Given the description of an element on the screen output the (x, y) to click on. 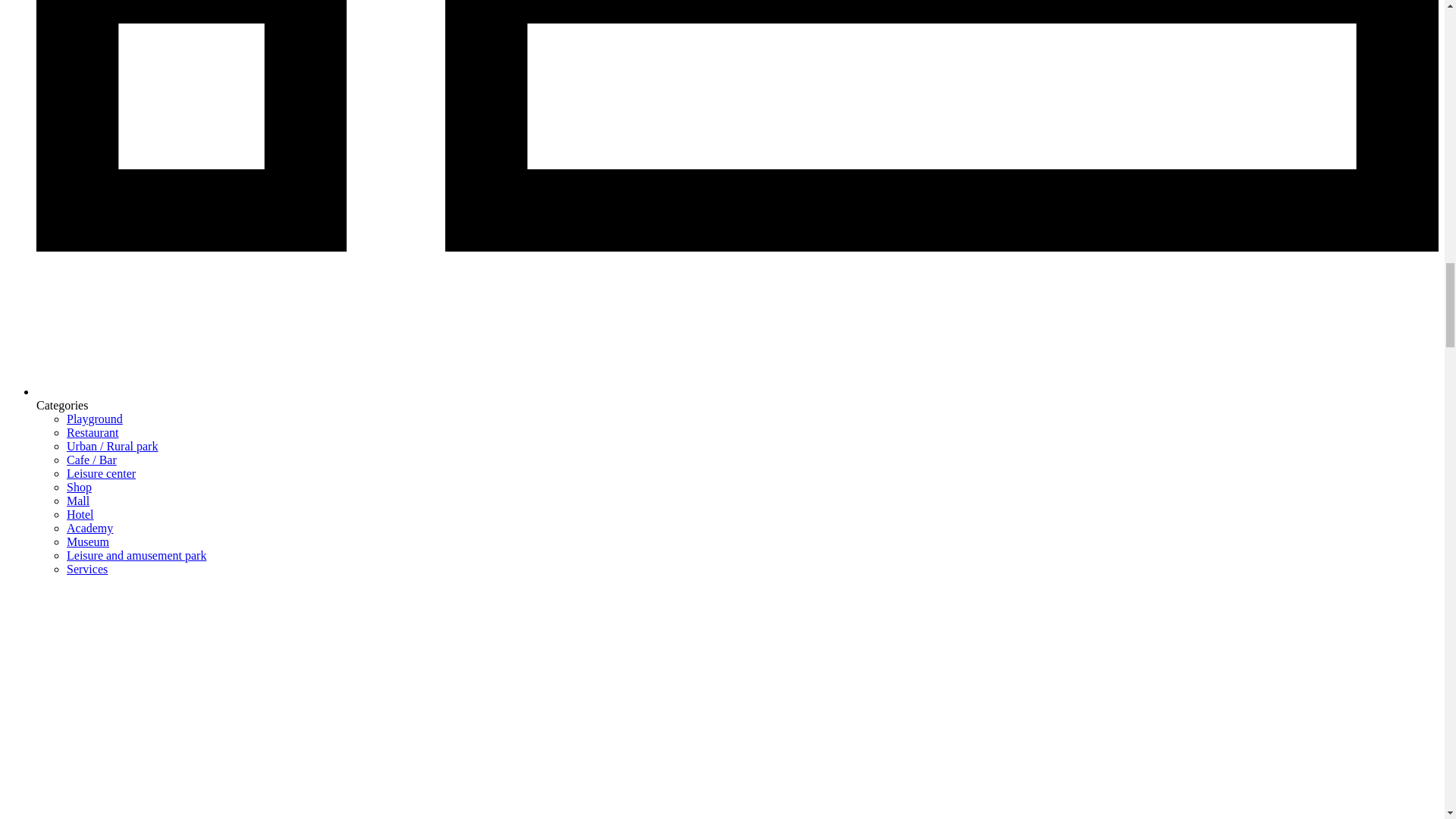
Hotel (80, 513)
Leisure center (100, 472)
Academy (89, 527)
Shop (78, 486)
Mall (77, 500)
Restaurant (91, 431)
Museum (87, 541)
Playground (94, 418)
Services (86, 568)
Leisure and amusement park (136, 554)
